Given the description of an element on the screen output the (x, y) to click on. 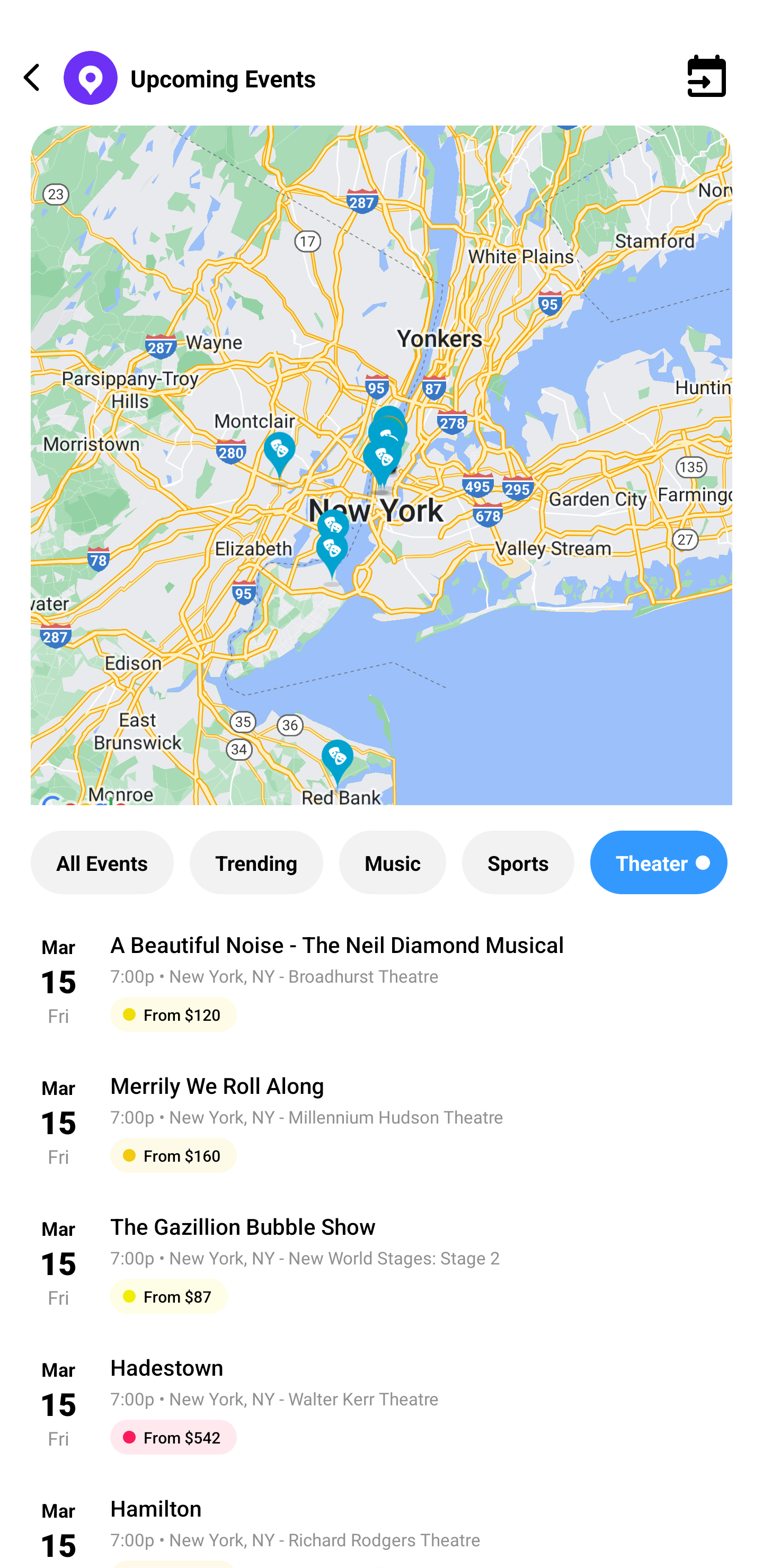
All Events (101, 862)
Trending (256, 862)
Music (392, 862)
Sports (518, 862)
Theater (658, 862)
